Given the description of an element on the screen output the (x, y) to click on. 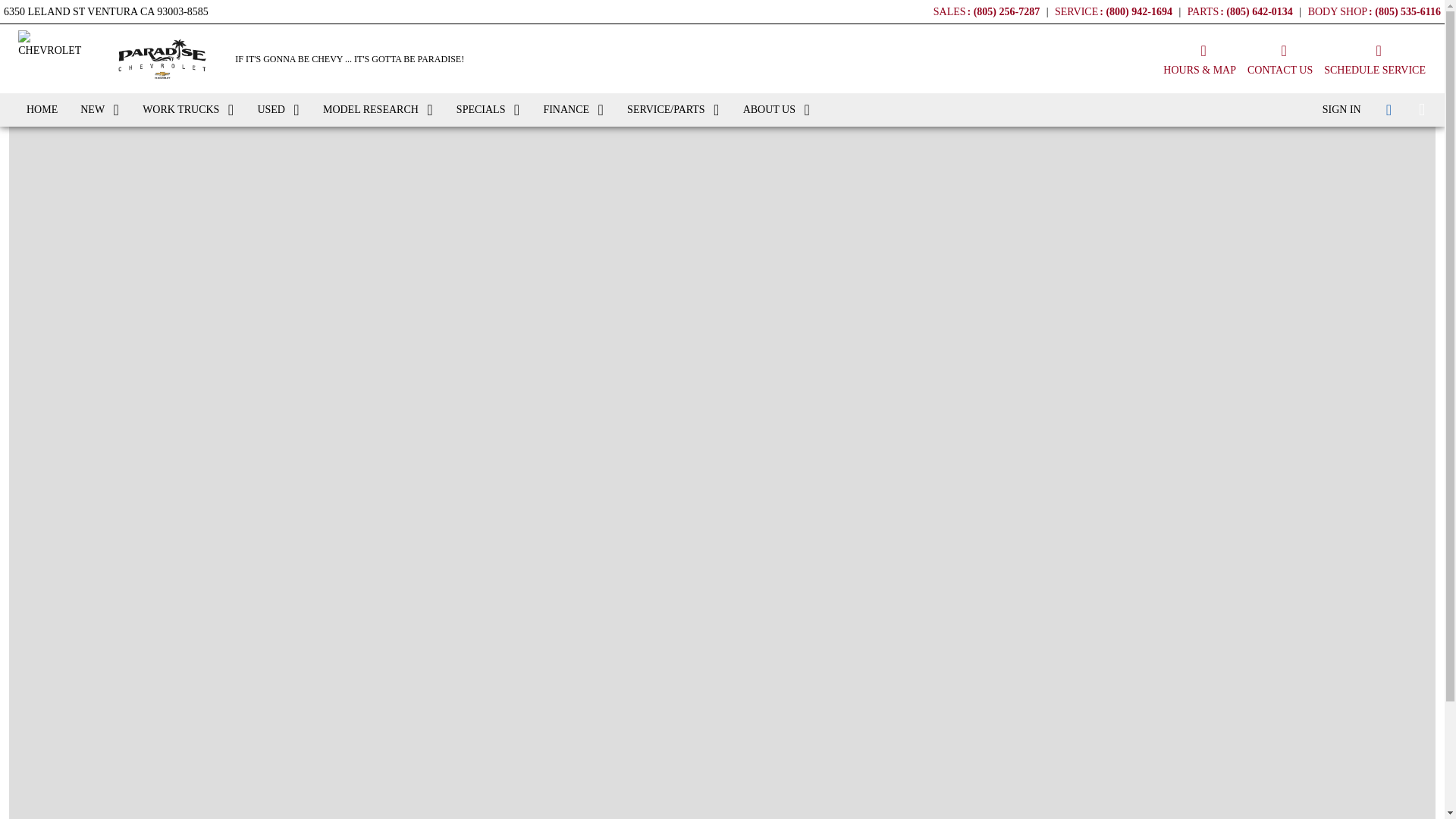
Chevrolet (55, 58)
6350 LELAND ST VENTURA CA 93003-8585 (106, 9)
IF IT'S GONNA BE CHEVY ... IT'S GOTTA BE PARADISE! (349, 58)
SCHEDULE SERVICE (1374, 58)
CONTACT US (1280, 58)
HOME (41, 109)
Paradise Chevrolet (161, 59)
Skip to Main Content (45, 7)
